Given the description of an element on the screen output the (x, y) to click on. 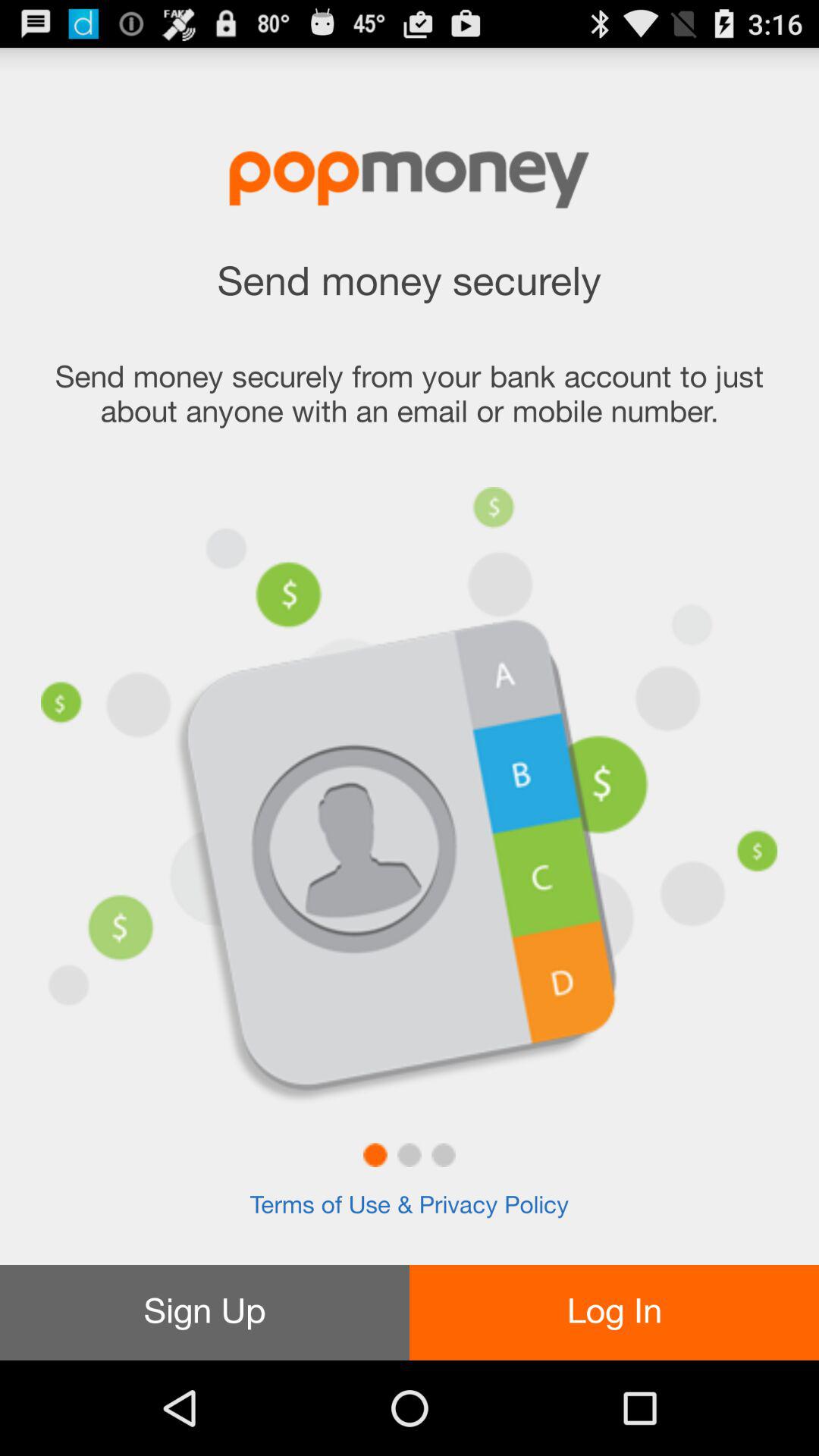
turn off icon to the right of the sign up (614, 1312)
